Given the description of an element on the screen output the (x, y) to click on. 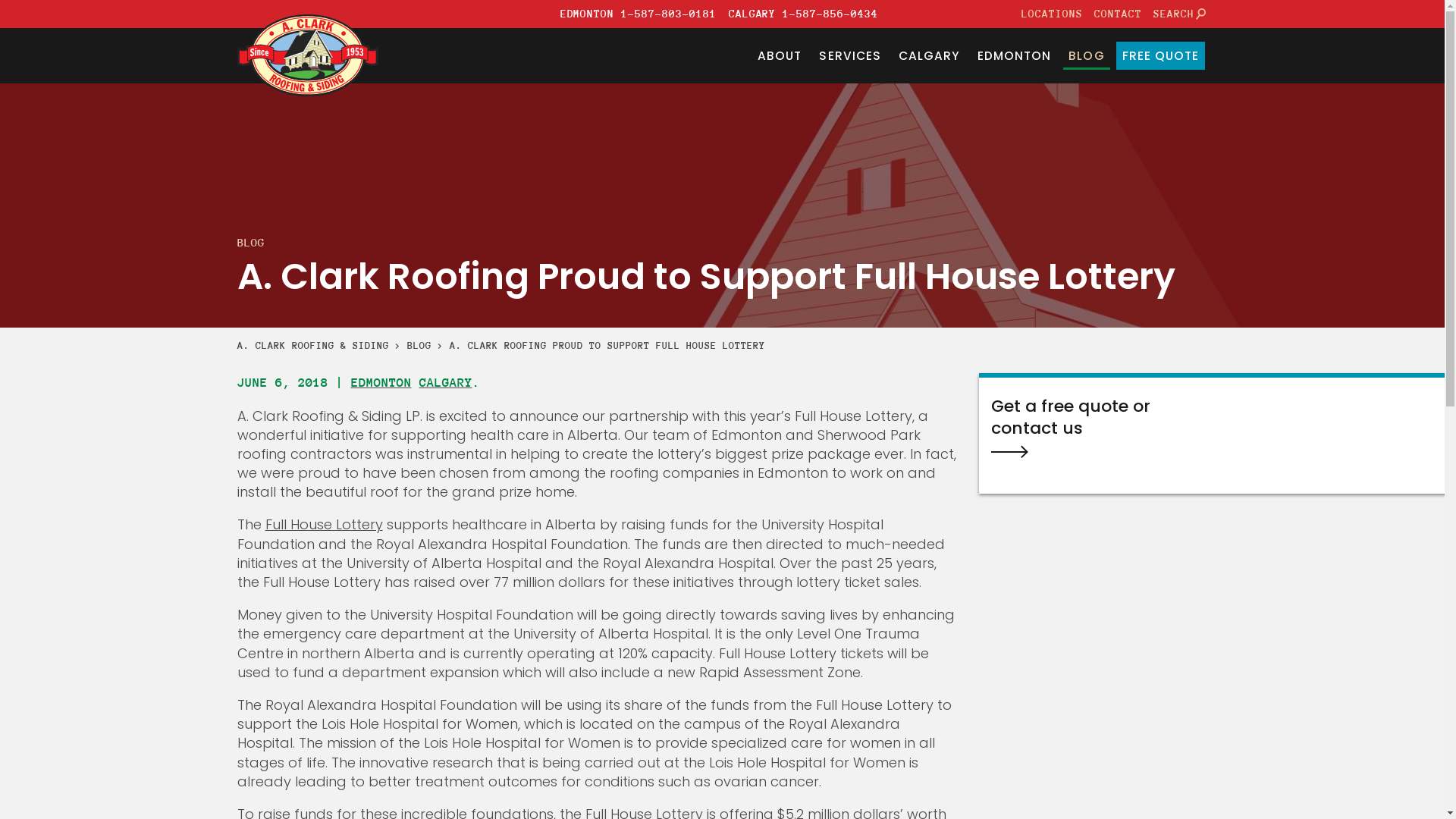
A. CLARK ROOFING & SIDING Element type: text (312, 345)
Get a free quote Element type: text (1046, 451)
A. Clark Roofing & Siding Element type: text (306, 55)
CALGARY Element type: text (929, 55)
ABOUT Element type: text (780, 55)
EDMONTON Element type: text (1014, 55)
1-587-803-0181 Element type: text (668, 13)
Full House Lottery Element type: text (323, 523)
SEARCH Element type: text (1178, 14)
CALGARY Element type: text (444, 382)
LOCATIONS Element type: text (1052, 14)
1-587-856-0434 Element type: text (829, 13)
SERVICES Element type: text (850, 55)
FREE QUOTE Element type: text (1160, 55)
BLOG Element type: text (418, 345)
EDMONTON Element type: text (380, 382)
CONTACT Element type: text (1118, 14)
BLOG Element type: text (1086, 55)
